Given the description of an element on the screen output the (x, y) to click on. 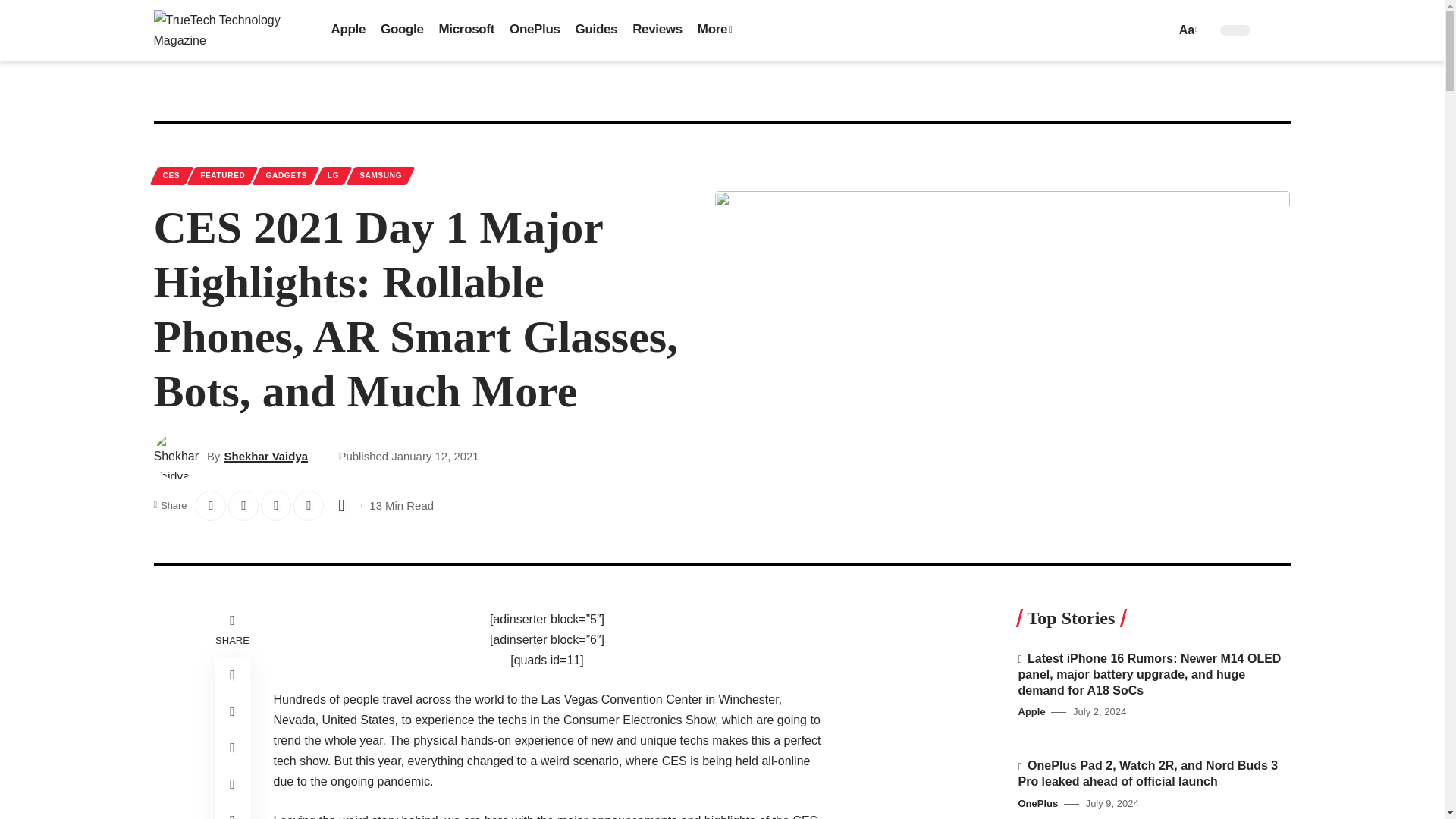
Guides (596, 30)
OnePlus (534, 30)
More (714, 30)
Aa (1186, 29)
Microsoft (466, 30)
Google (401, 30)
Reviews (657, 30)
Apple (347, 30)
